Given the description of an element on the screen output the (x, y) to click on. 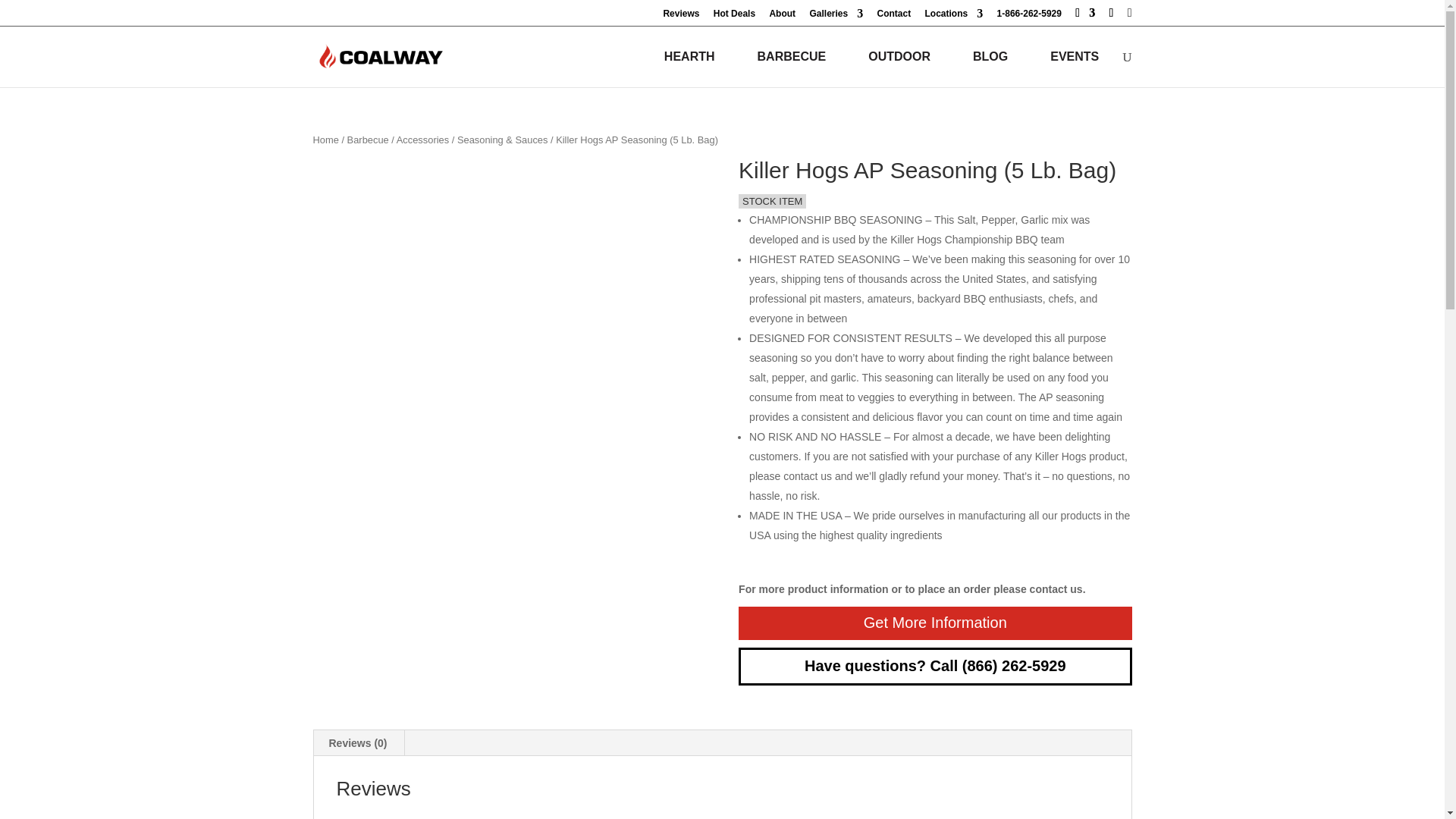
Reviews (680, 17)
Contact (893, 17)
1-866-262-5929 (1029, 17)
HEARTH (691, 56)
About (781, 17)
Locations (954, 17)
Galleries (836, 17)
Hot Deals (734, 17)
